Given the description of an element on the screen output the (x, y) to click on. 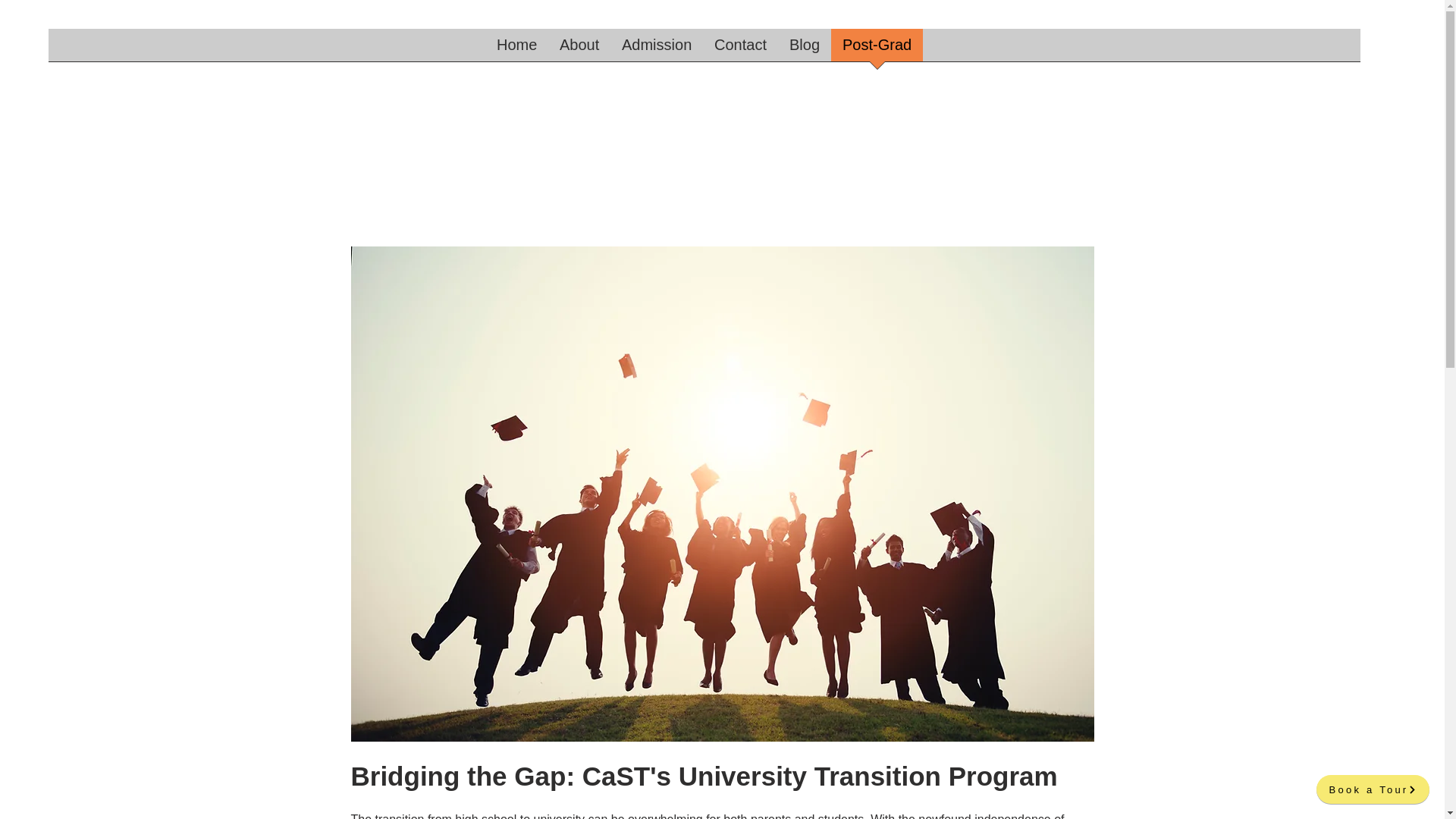
Home (516, 49)
Post-Grad (877, 49)
Book a Tour (1372, 788)
Blog (804, 49)
